Given the description of an element on the screen output the (x, y) to click on. 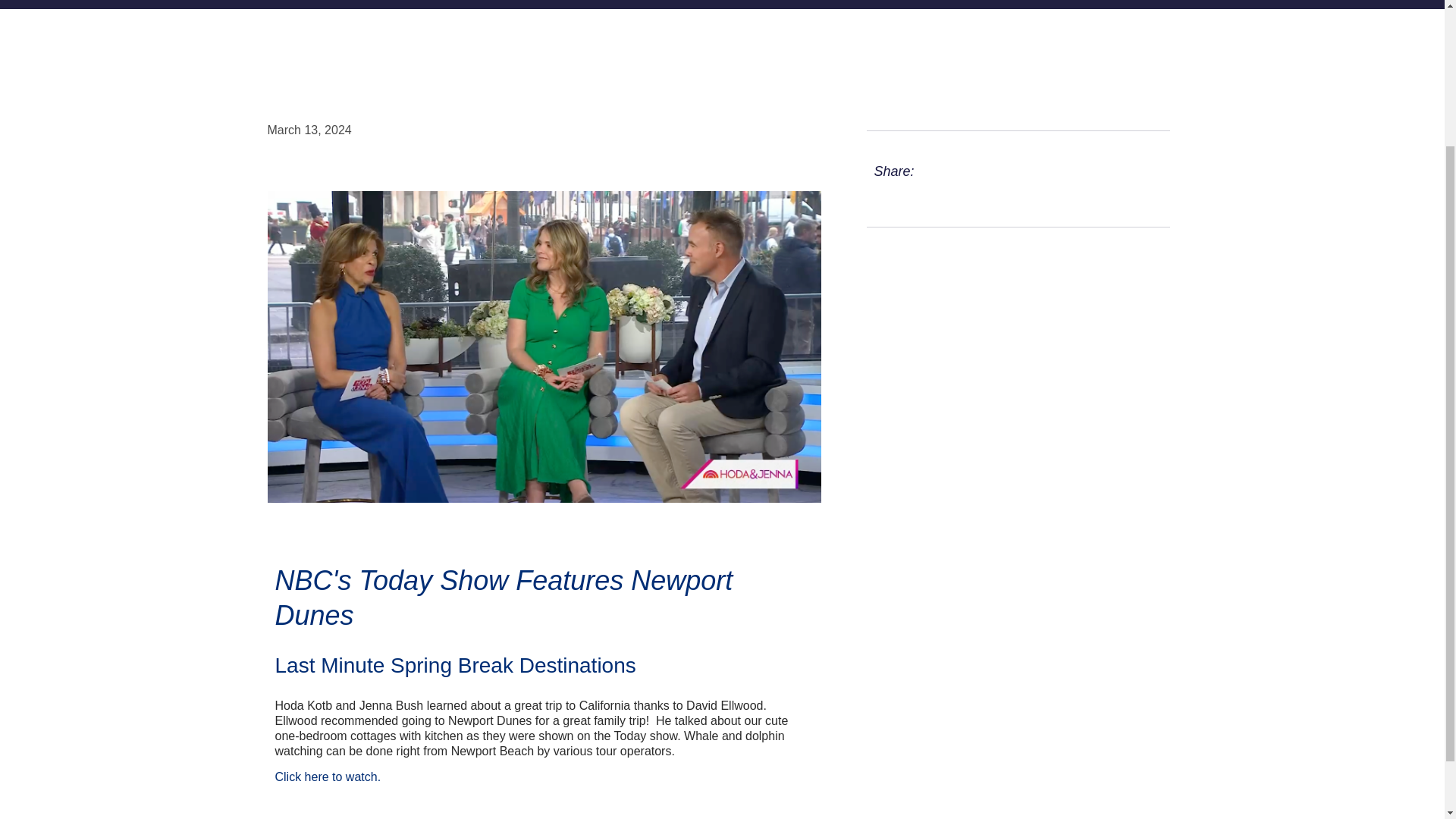
Click here to watch. (327, 776)
March 13, 2024 (308, 130)
